Given the description of an element on the screen output the (x, y) to click on. 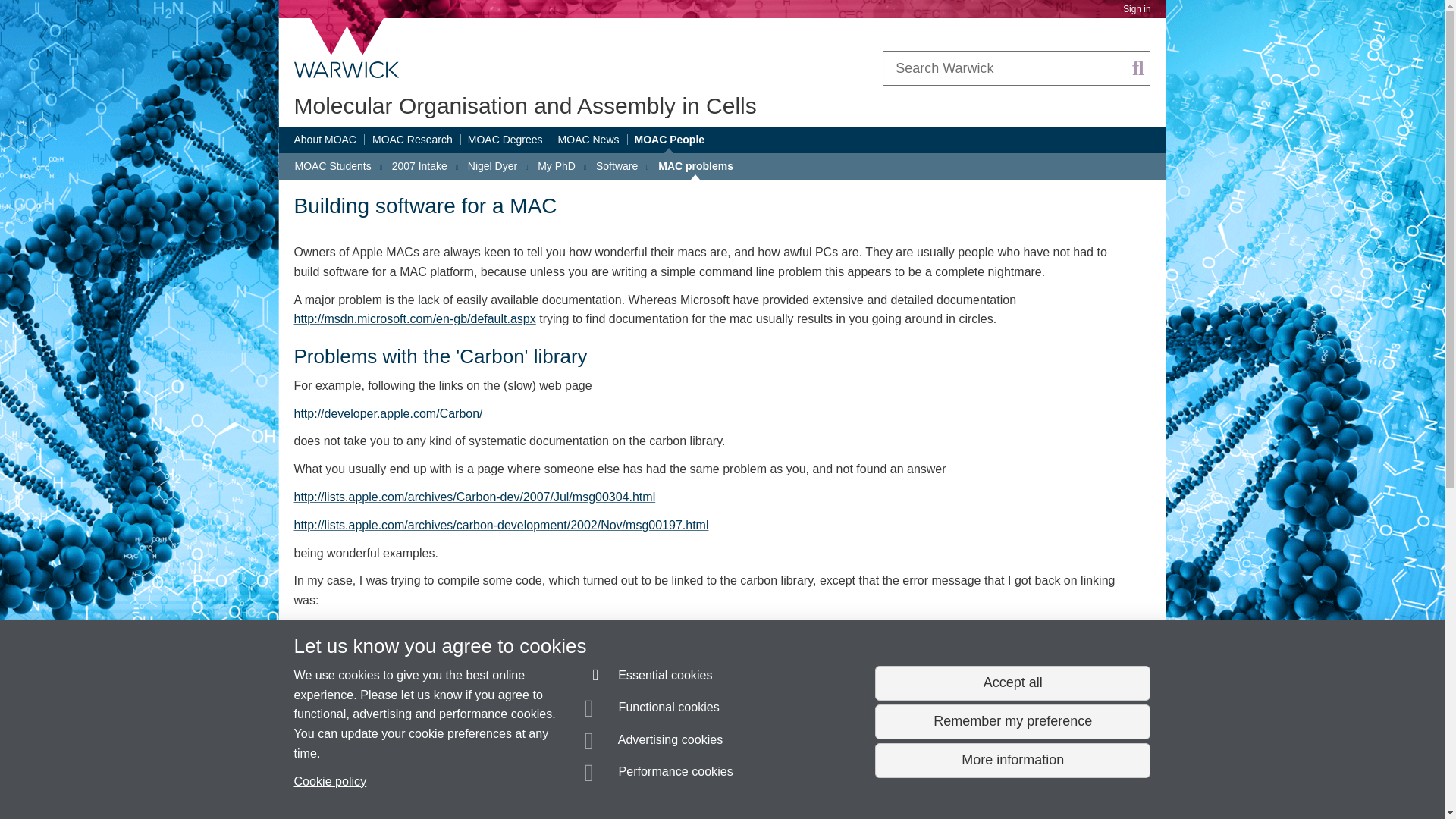
Molecular Organisation and Assembly in Cells (525, 105)
Accept all functional, advertising and performance cookies (1012, 683)
MOAC News (588, 139)
Sign in (1136, 9)
About MOAC (325, 139)
MOAC Degrees (505, 139)
MOAC Research (412, 139)
Essential cookies are always on (649, 677)
